Given the description of an element on the screen output the (x, y) to click on. 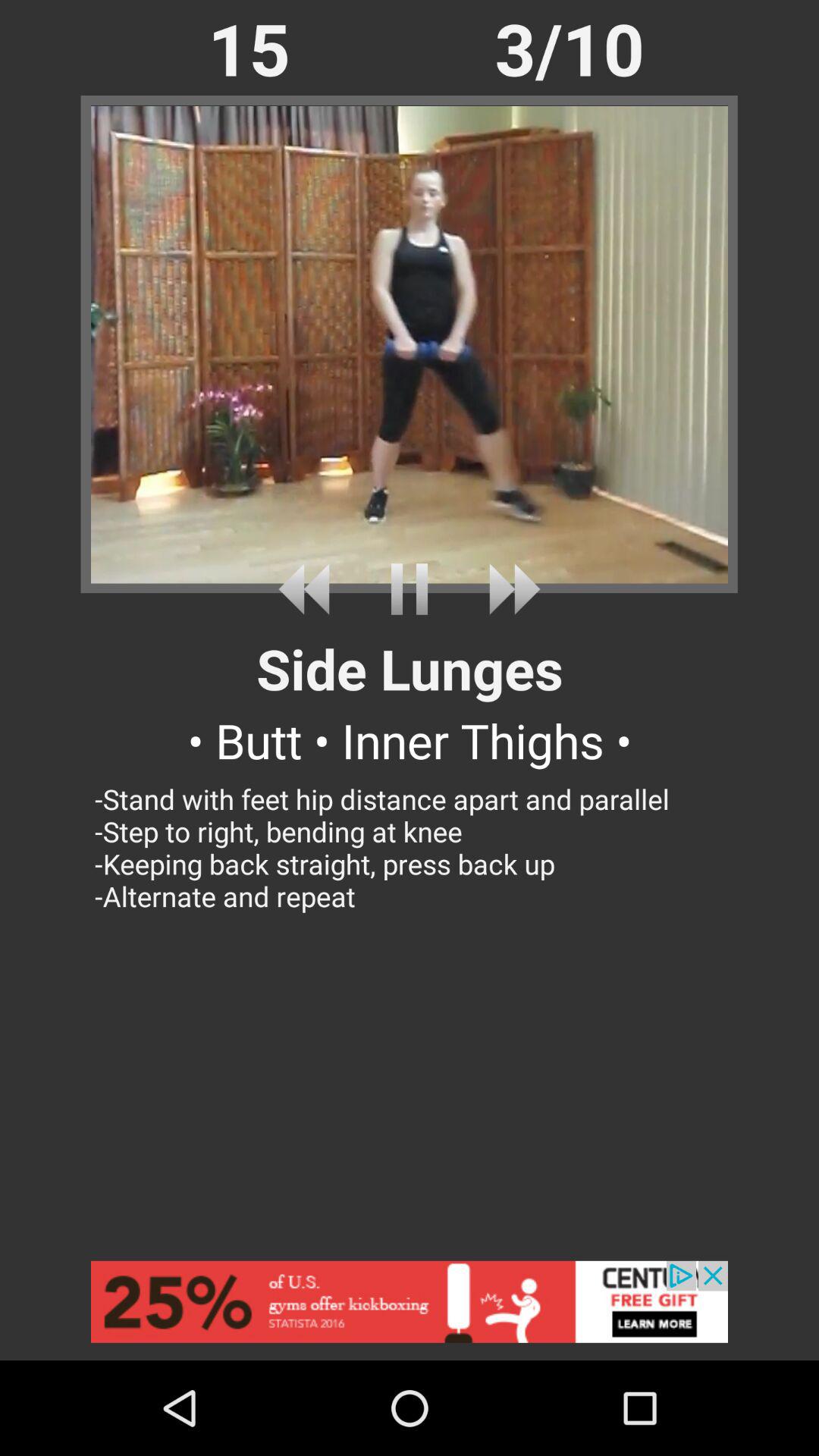
play backwards (309, 589)
